Given the description of an element on the screen output the (x, y) to click on. 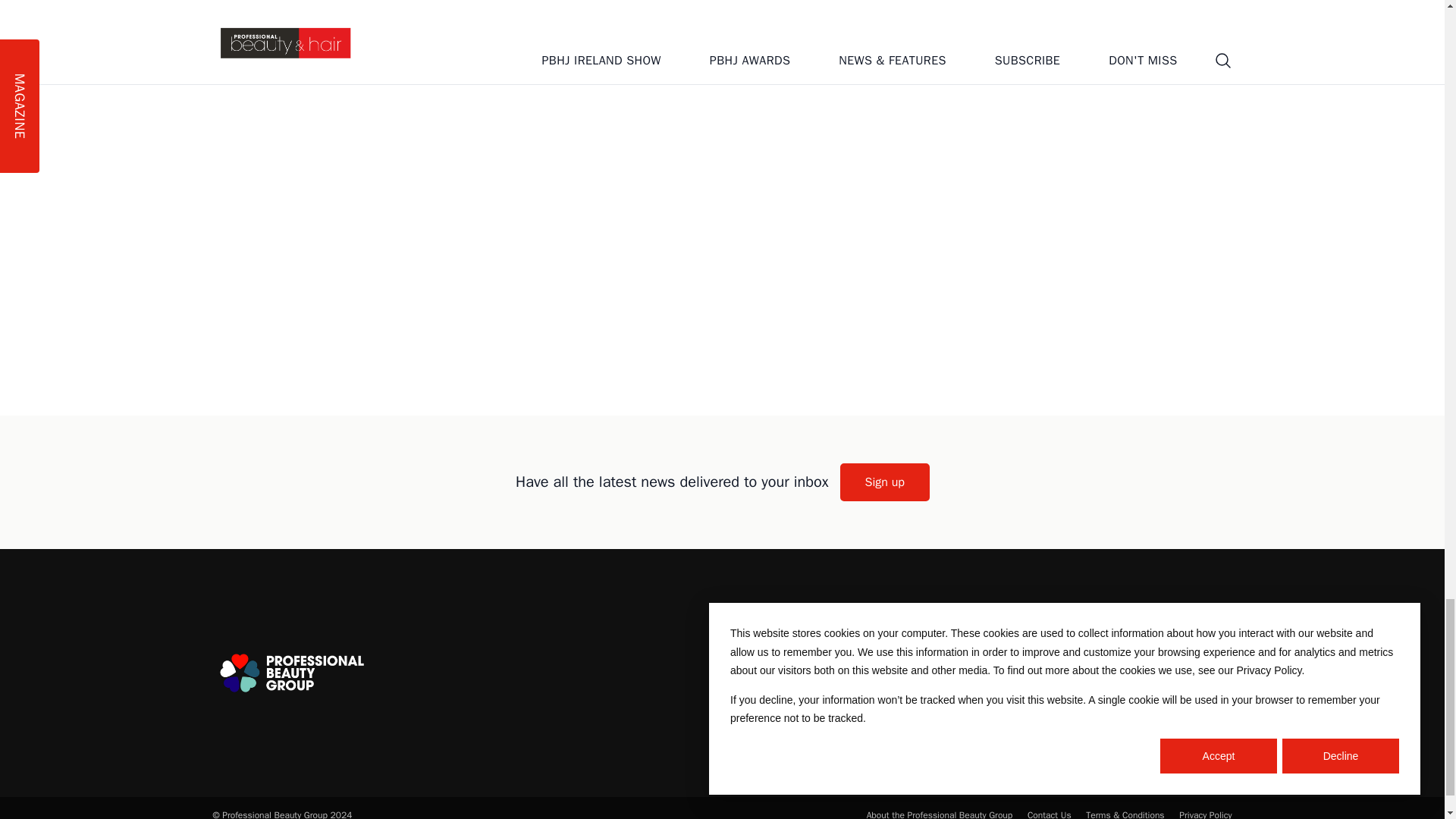
Twitter (1088, 672)
Facebook (1131, 672)
Professional Beauty Group (290, 673)
3rd party ad content (721, 332)
Sign up (884, 482)
